Given the description of an element on the screen output the (x, y) to click on. 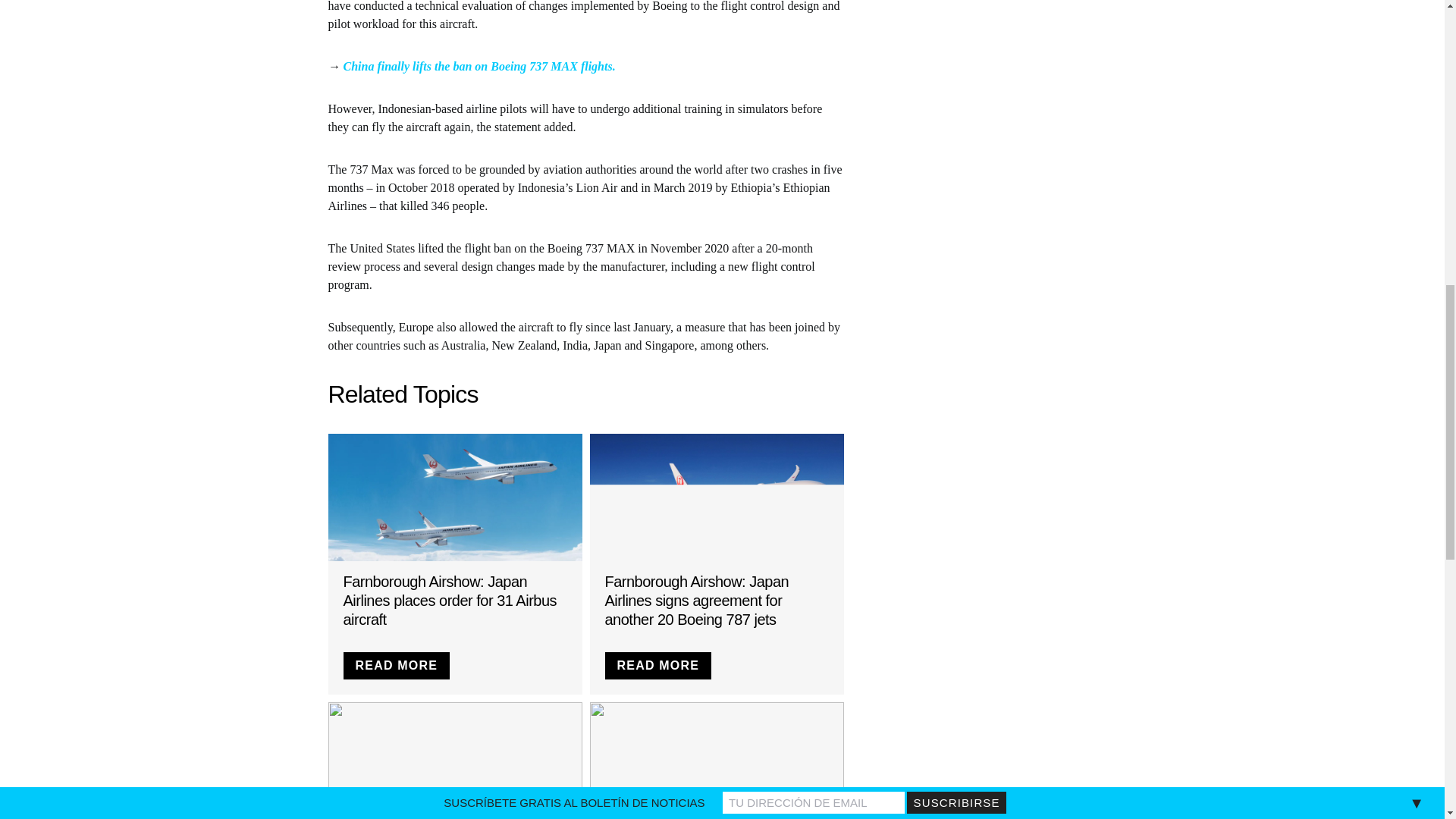
READ MORE (658, 665)
READ MORE (395, 665)
China finally lifts the ban on Boeing 737 MAX flights. (478, 65)
